Given the description of an element on the screen output the (x, y) to click on. 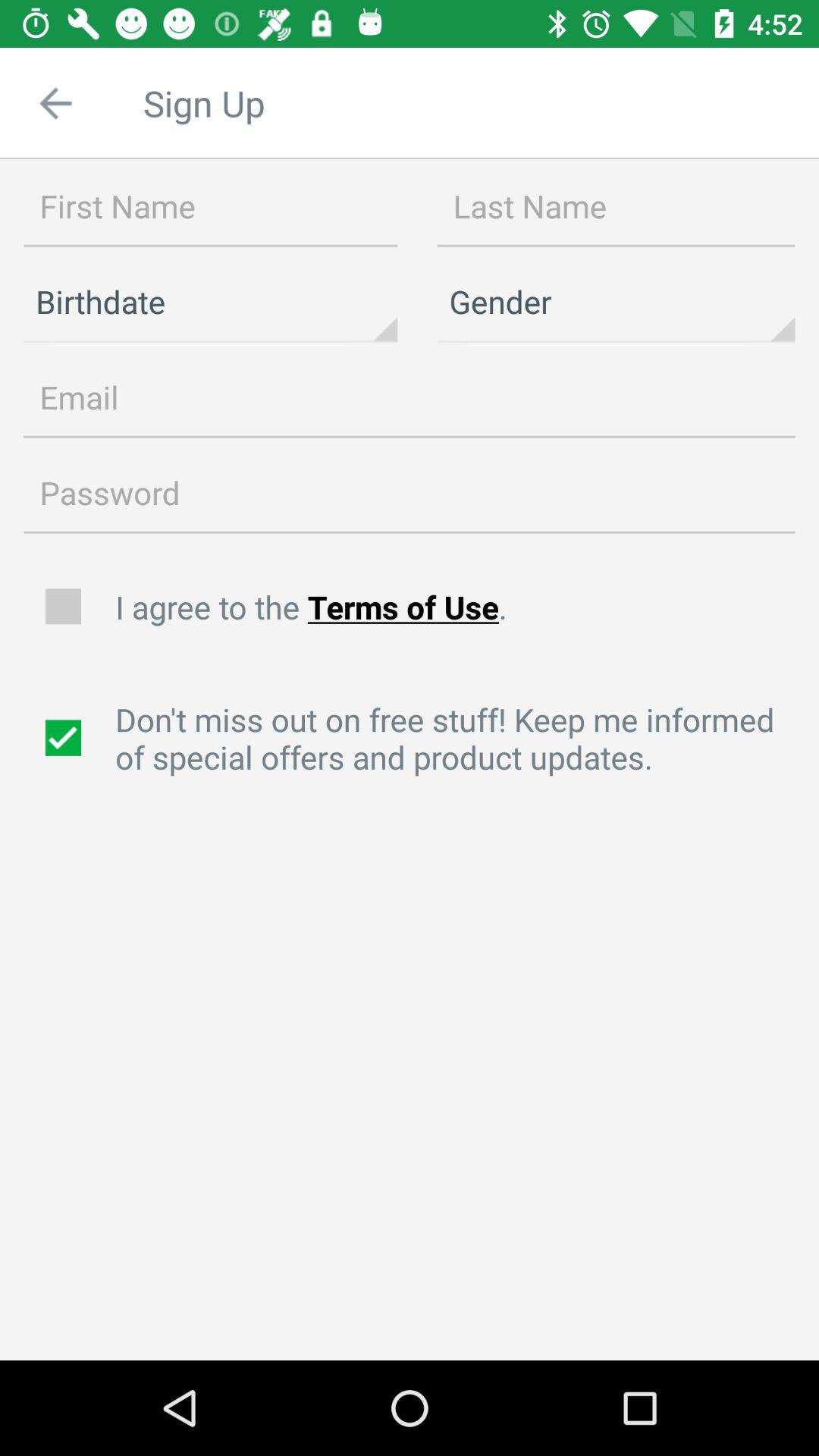
click icon to the left of sign up item (55, 103)
